Given the description of an element on the screen output the (x, y) to click on. 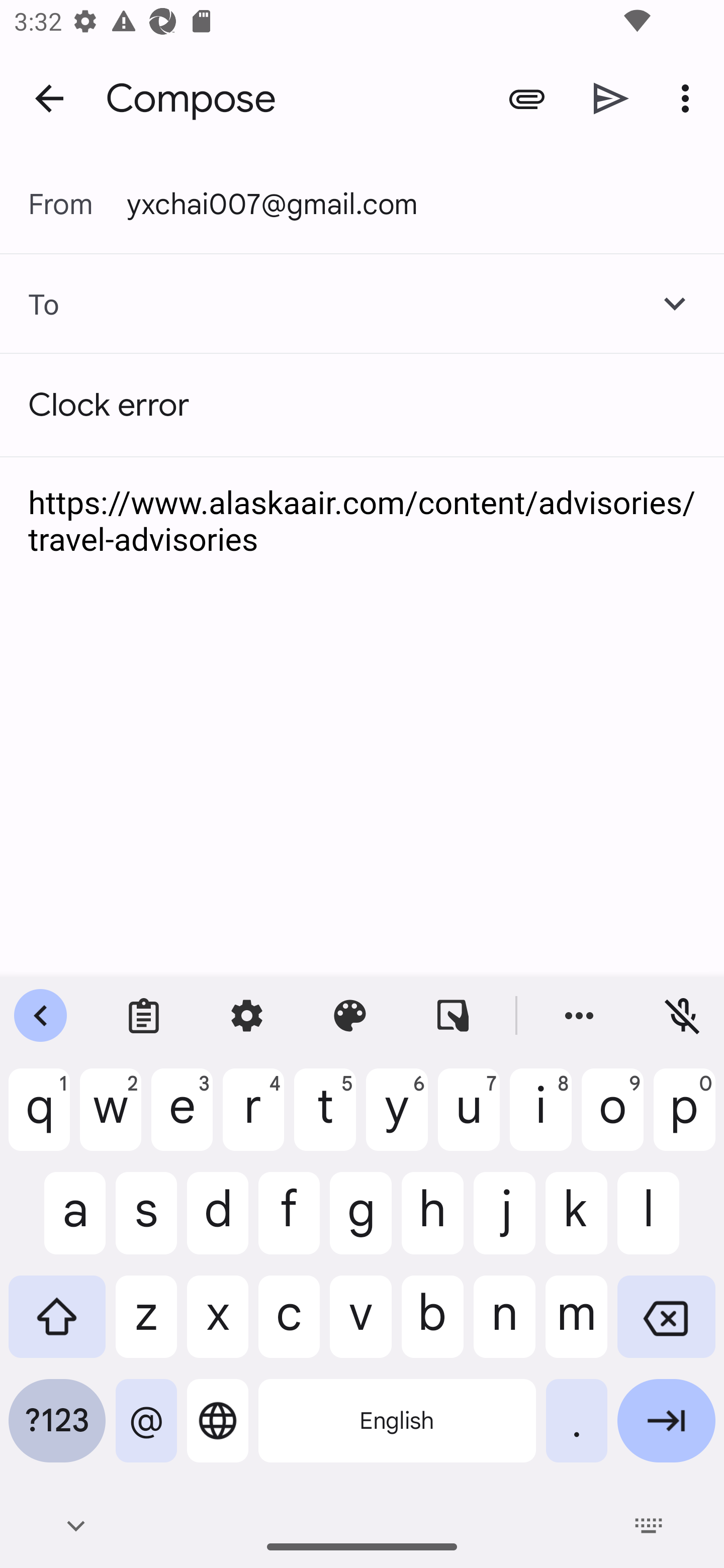
Navigate up (49, 97)
Attach file (526, 98)
Send (611, 98)
More options (688, 98)
From (77, 204)
Add Cc/Bcc (674, 303)
To (30, 303)
Clock error (361, 405)
